Given the description of an element on the screen output the (x, y) to click on. 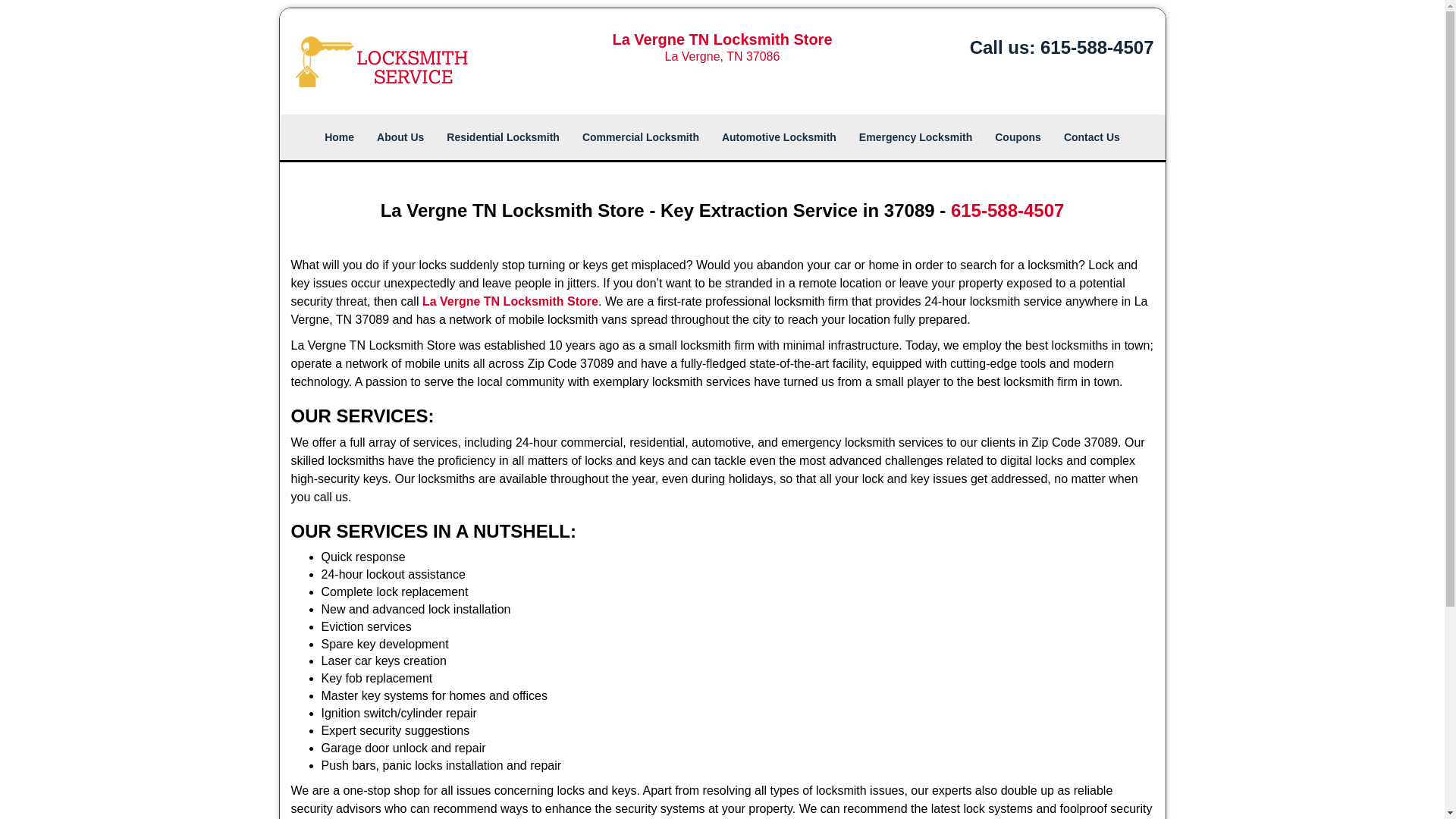
Commercial Locksmith (640, 136)
About Us (400, 136)
Coupons (1018, 136)
615-588-4507 (1097, 46)
Automotive Locksmith (778, 136)
Emergency Locksmith (915, 136)
Home (339, 136)
La Vergne TN Locksmith Store (510, 300)
Contact Us (1091, 136)
615-588-4507 (1007, 209)
